Given the description of an element on the screen output the (x, y) to click on. 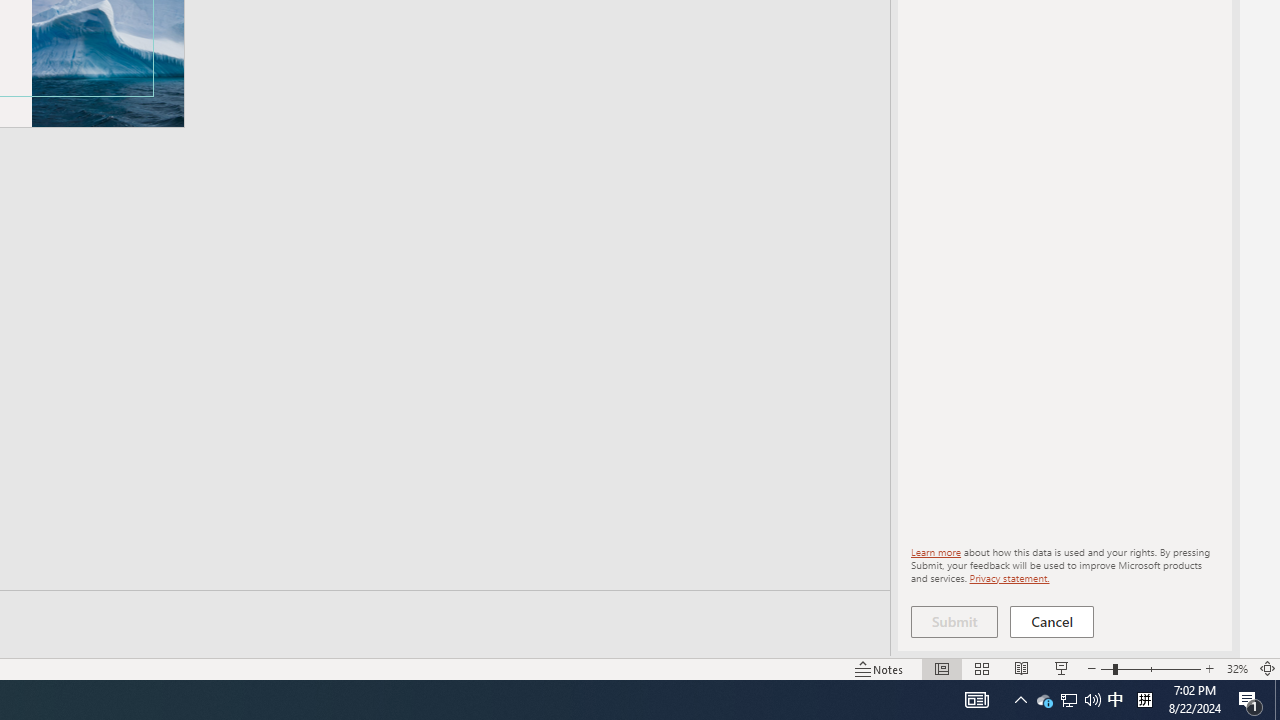
Learn more (936, 551)
Zoom 32% (1236, 668)
Submit (954, 621)
Privacy statement. (1008, 577)
Cancel (1051, 621)
